Given the description of an element on the screen output the (x, y) to click on. 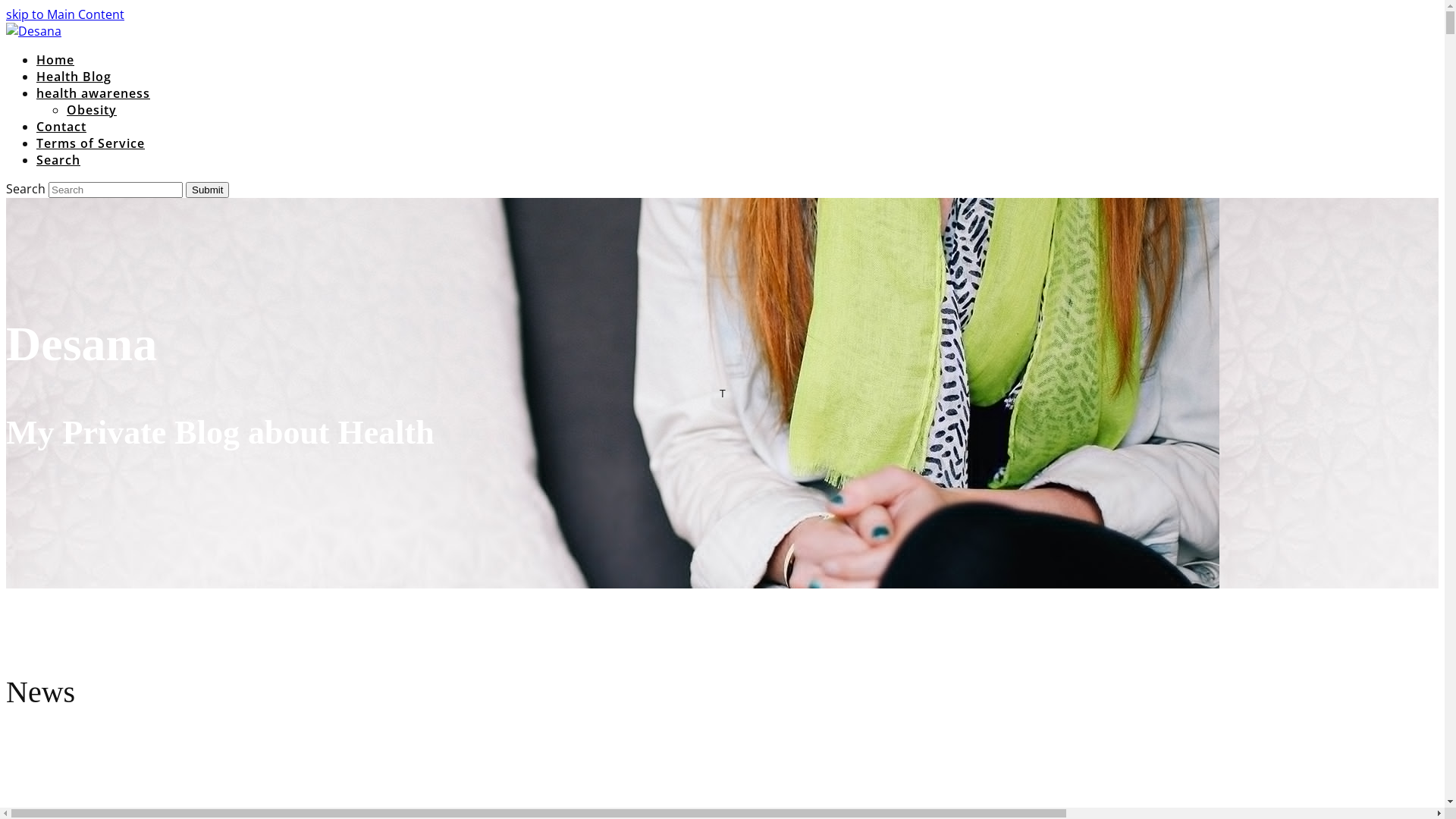
Search Element type: text (58, 159)
Contact Element type: text (61, 126)
Home Element type: text (55, 59)
Health Blog Element type: text (73, 76)
Obesity Element type: text (91, 109)
skip to Main Content Element type: text (65, 14)
health awareness Element type: text (93, 92)
Desana Element type: hover (33, 30)
Terms of Service Element type: text (90, 142)
Submit Element type: text (207, 189)
